Given the description of an element on the screen output the (x, y) to click on. 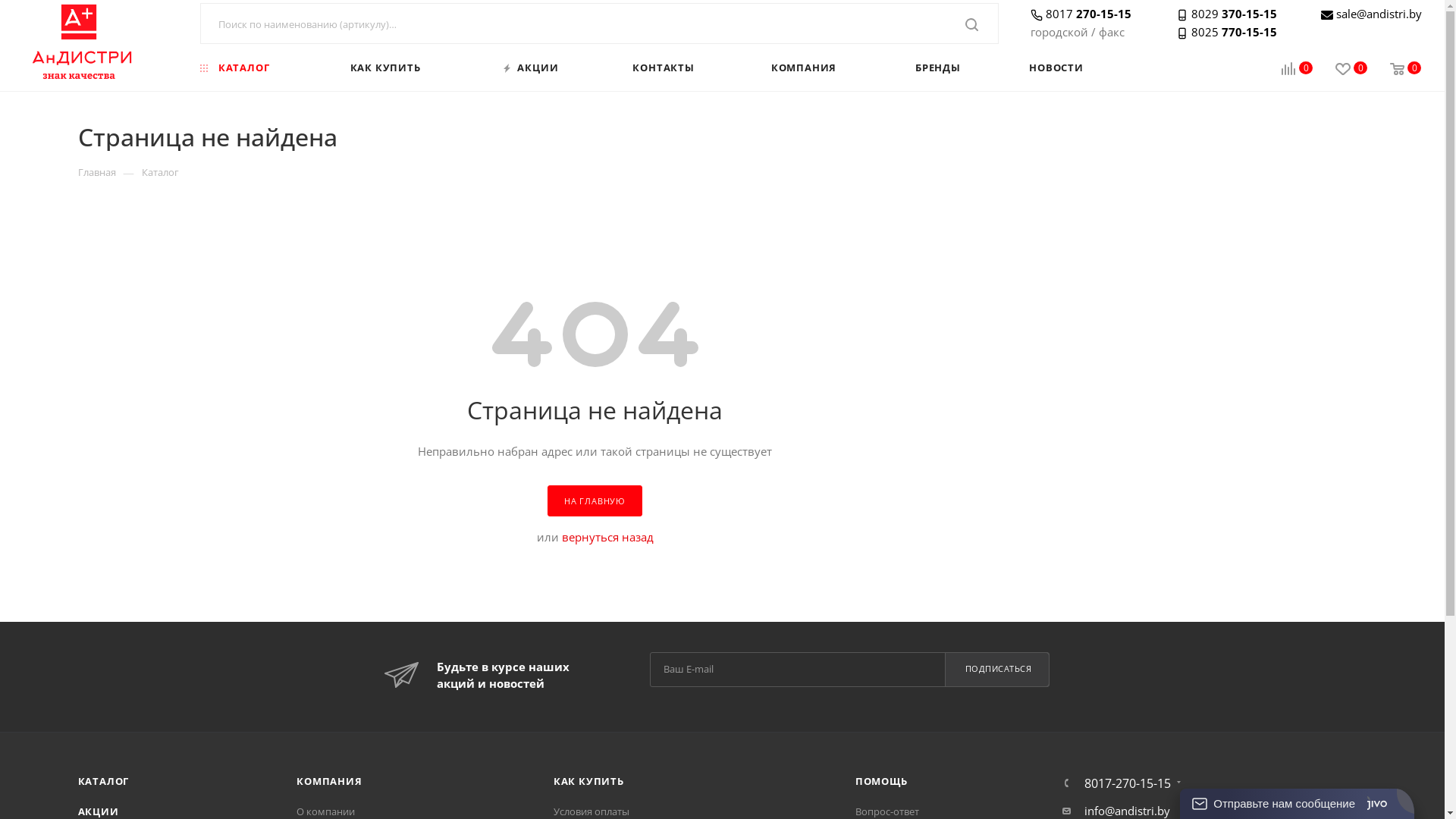
0 Element type: text (1285, 69)
info@andistri.by Element type: text (1127, 810)
8017 270-15-15 Element type: text (1080, 13)
8017-270-15-15 Element type: text (1127, 783)
8029 370-15-15 Element type: text (1226, 13)
sale@andistri.by Element type: text (1378, 13)
0 Element type: text (1339, 69)
0 Element type: text (1394, 69)
8025 770-15-15 Element type: text (1226, 31)
